Given the description of an element on the screen output the (x, y) to click on. 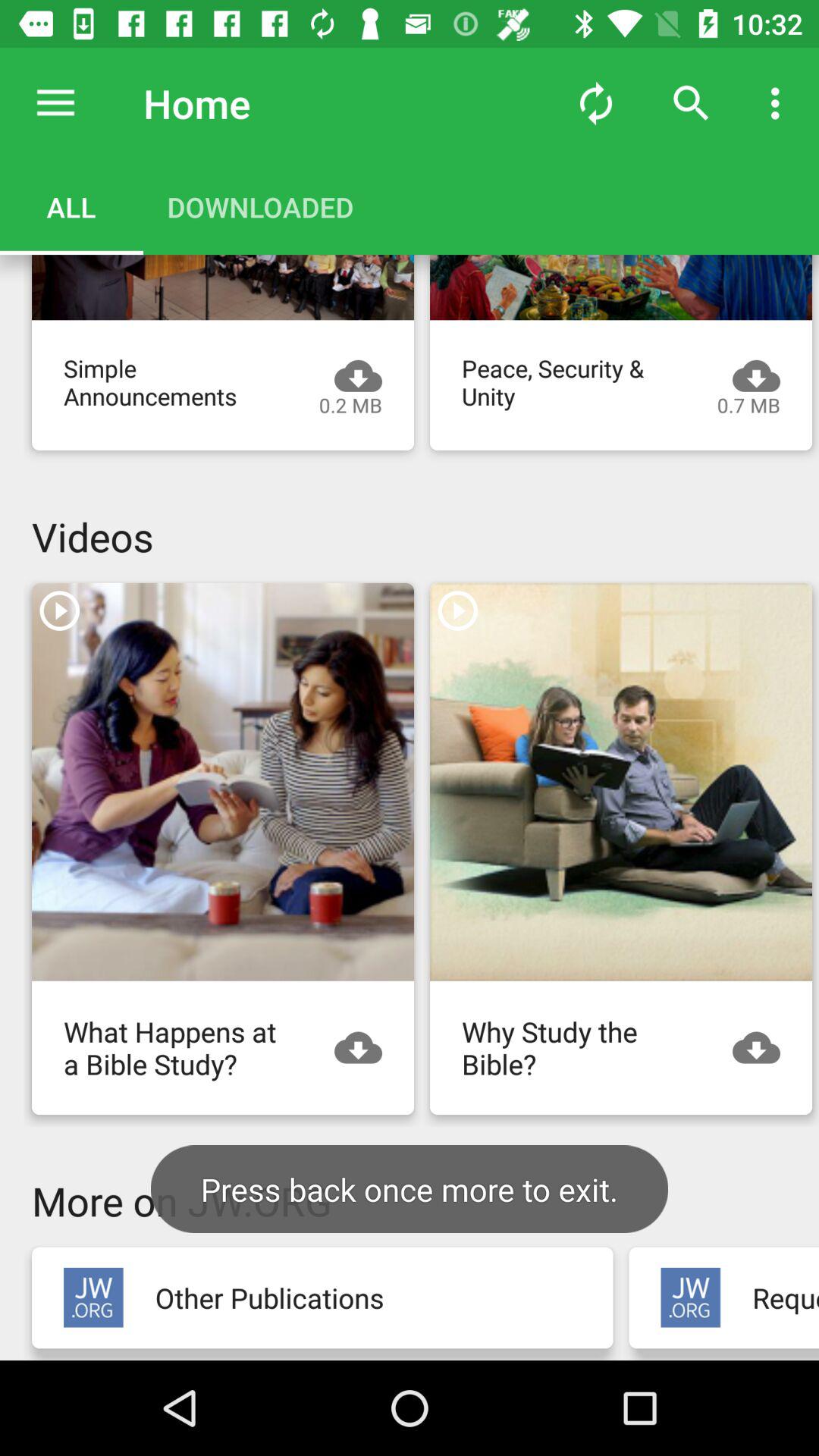
click on simple announcements (222, 287)
